Given the description of an element on the screen output the (x, y) to click on. 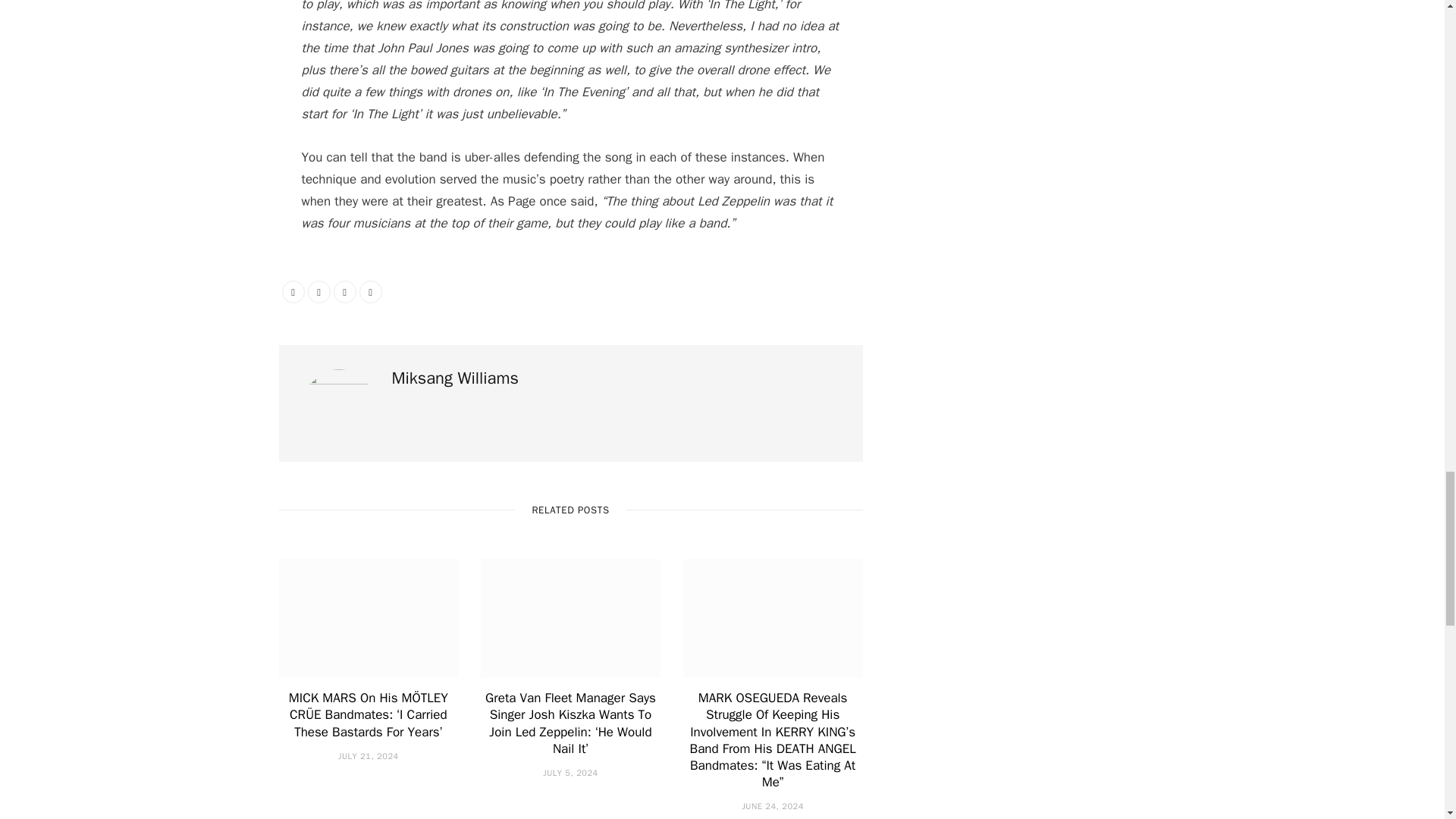
Share on Facebook (293, 291)
JULY 21, 2024 (367, 756)
Share on Twitter (318, 291)
JULY 5, 2024 (570, 772)
JUNE 24, 2024 (772, 805)
Pinterest (344, 291)
Miksang Williams (454, 378)
